Given the description of an element on the screen output the (x, y) to click on. 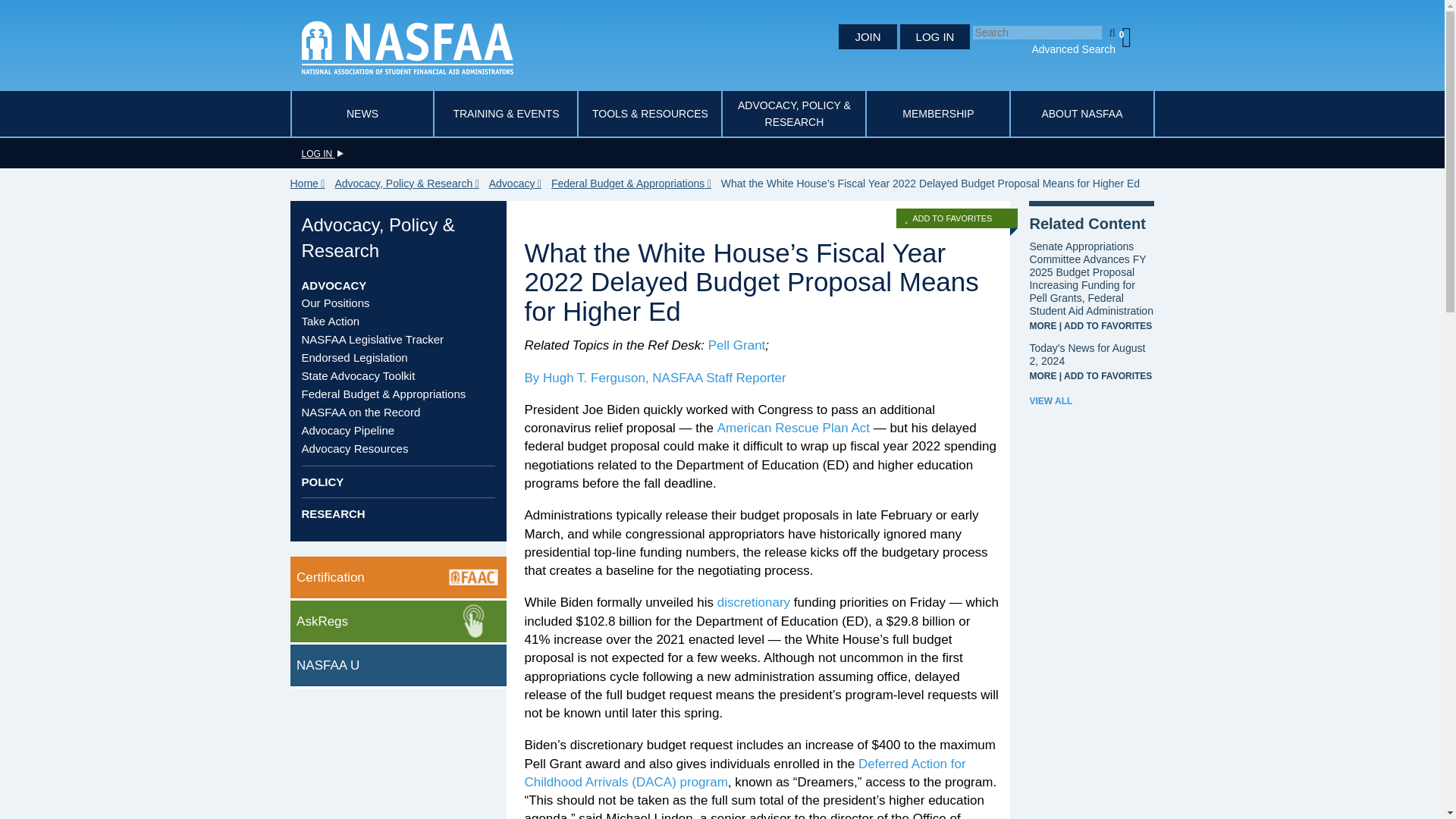
NASFAA on the Record (360, 411)
Advocacy (518, 183)
JOIN (867, 36)
State Advocacy Toolkit (357, 375)
Advanced Search (1072, 49)
Endorsed Legislation (354, 357)
Advocacy (333, 285)
Home (310, 183)
NASFAA Legislative Tracker (372, 338)
Our Positions (335, 302)
